Given the description of an element on the screen output the (x, y) to click on. 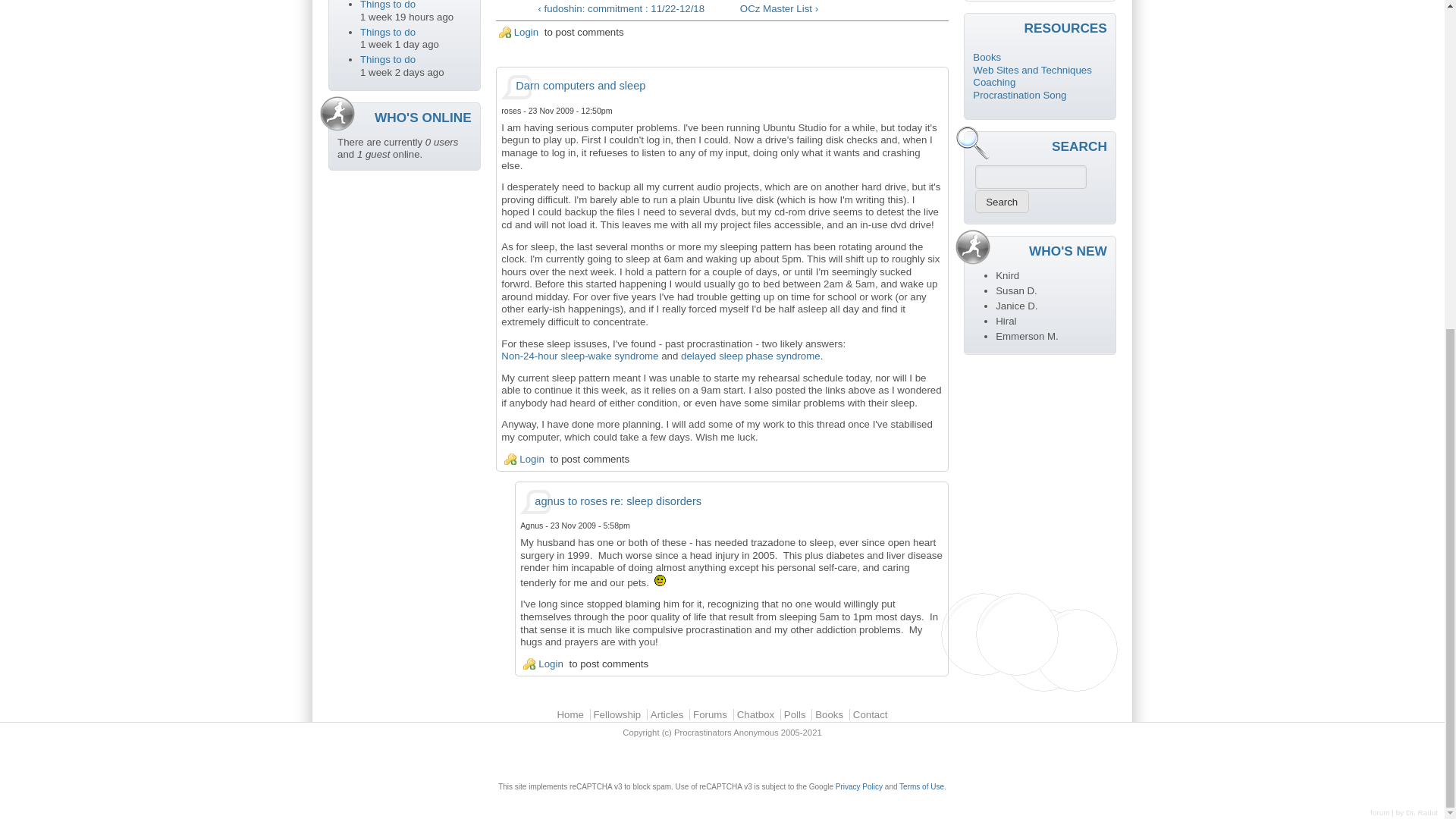
Things to do (386, 59)
Things to do (386, 31)
kiss (659, 580)
Go to previous forum topic (602, 9)
Go to next forum topic (841, 9)
Things to do (386, 4)
Search (1002, 201)
